Given the description of an element on the screen output the (x, y) to click on. 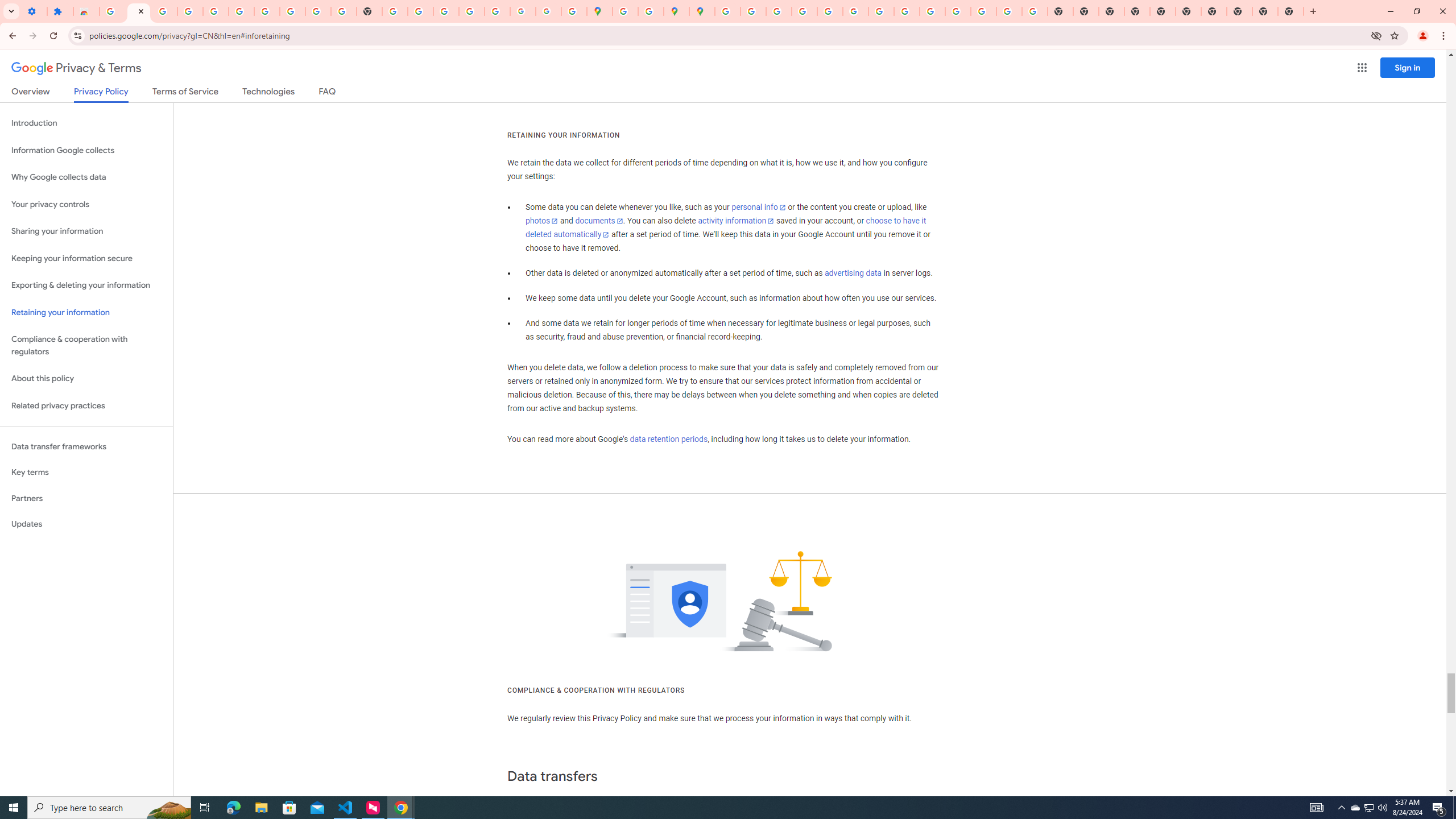
New Tab (1290, 11)
Sign in - Google Accounts (112, 11)
Compliance & cooperation with regulators (86, 345)
